Given the description of an element on the screen output the (x, y) to click on. 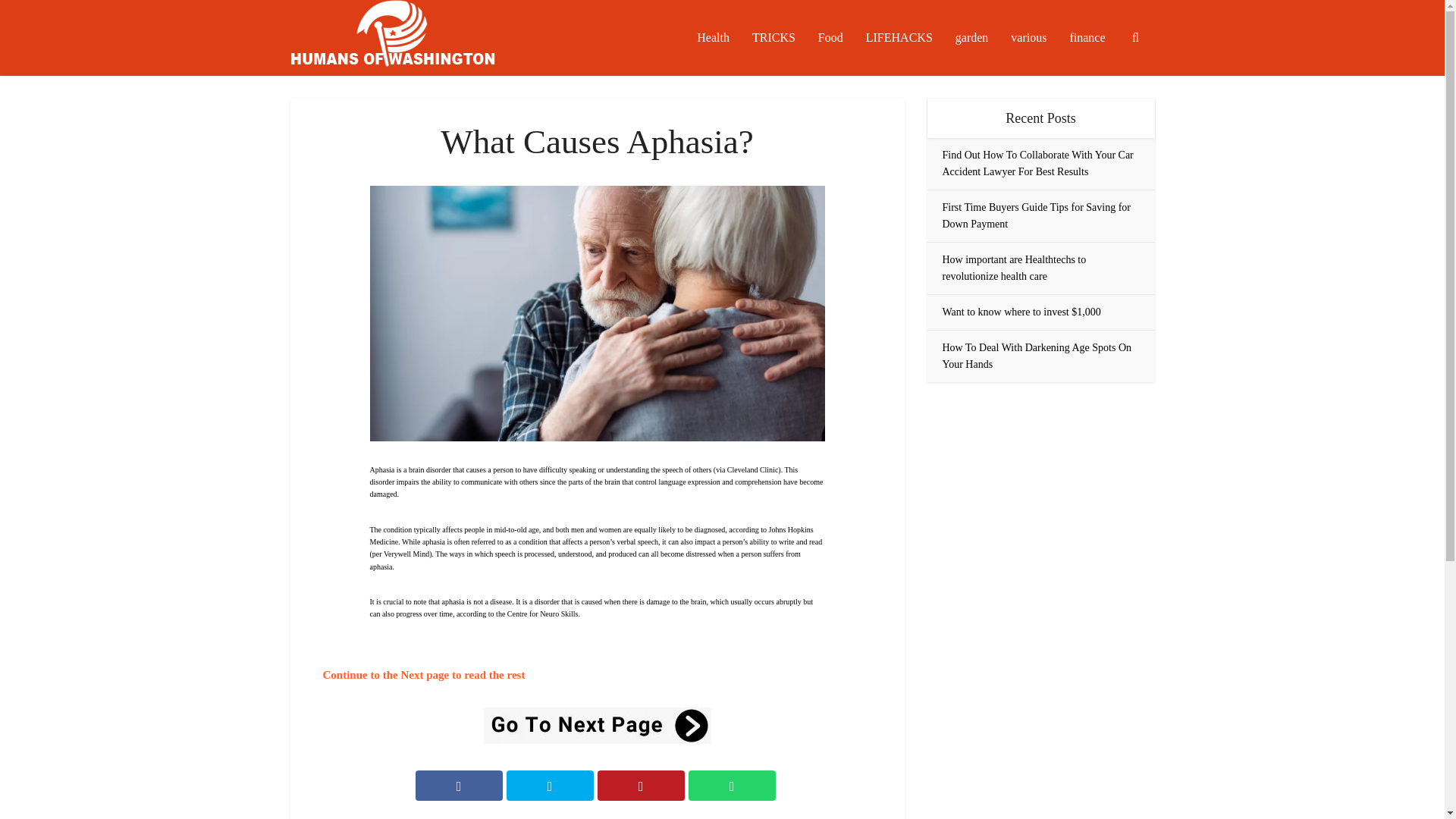
LIFEHACKS (898, 38)
How important are Healthtechs to revolutionize health care (1014, 267)
First Time Buyers Guide Tips for Saving for Down Payment (1036, 215)
